Given the description of an element on the screen output the (x, y) to click on. 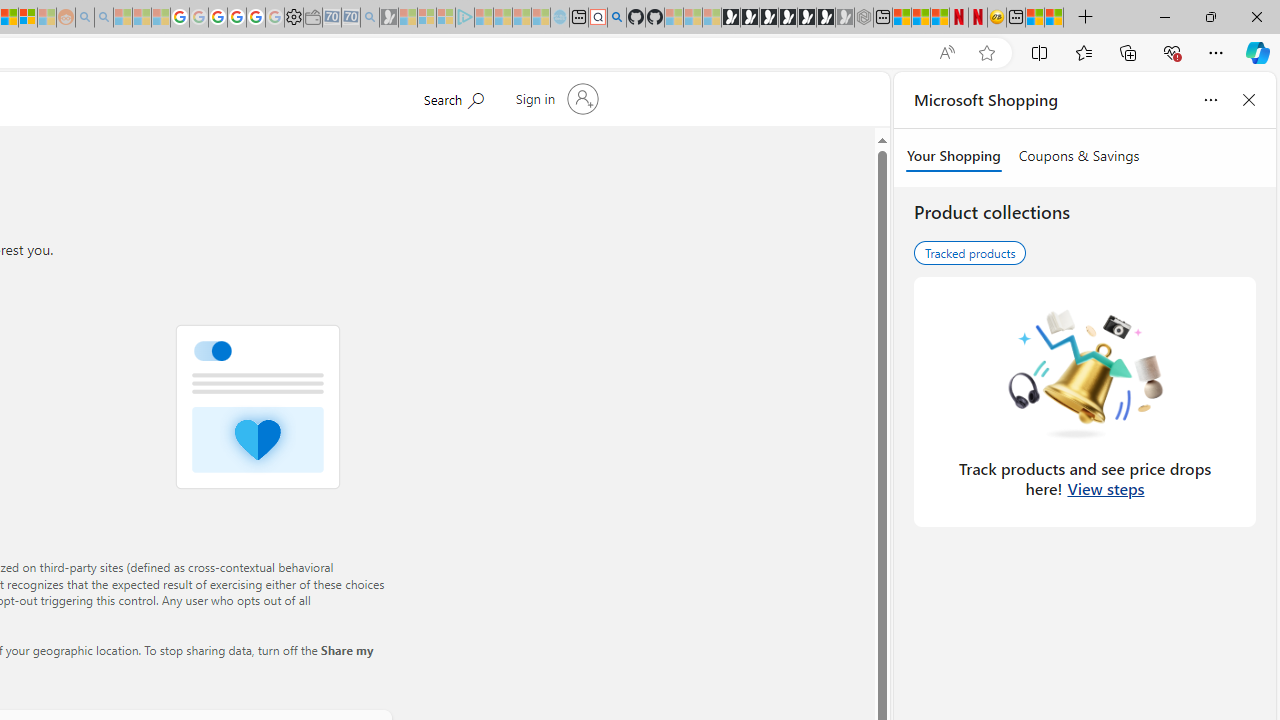
github - Search (616, 17)
Sign in to your account (554, 98)
Wildlife - MSN (1035, 17)
